Given the description of an element on the screen output the (x, y) to click on. 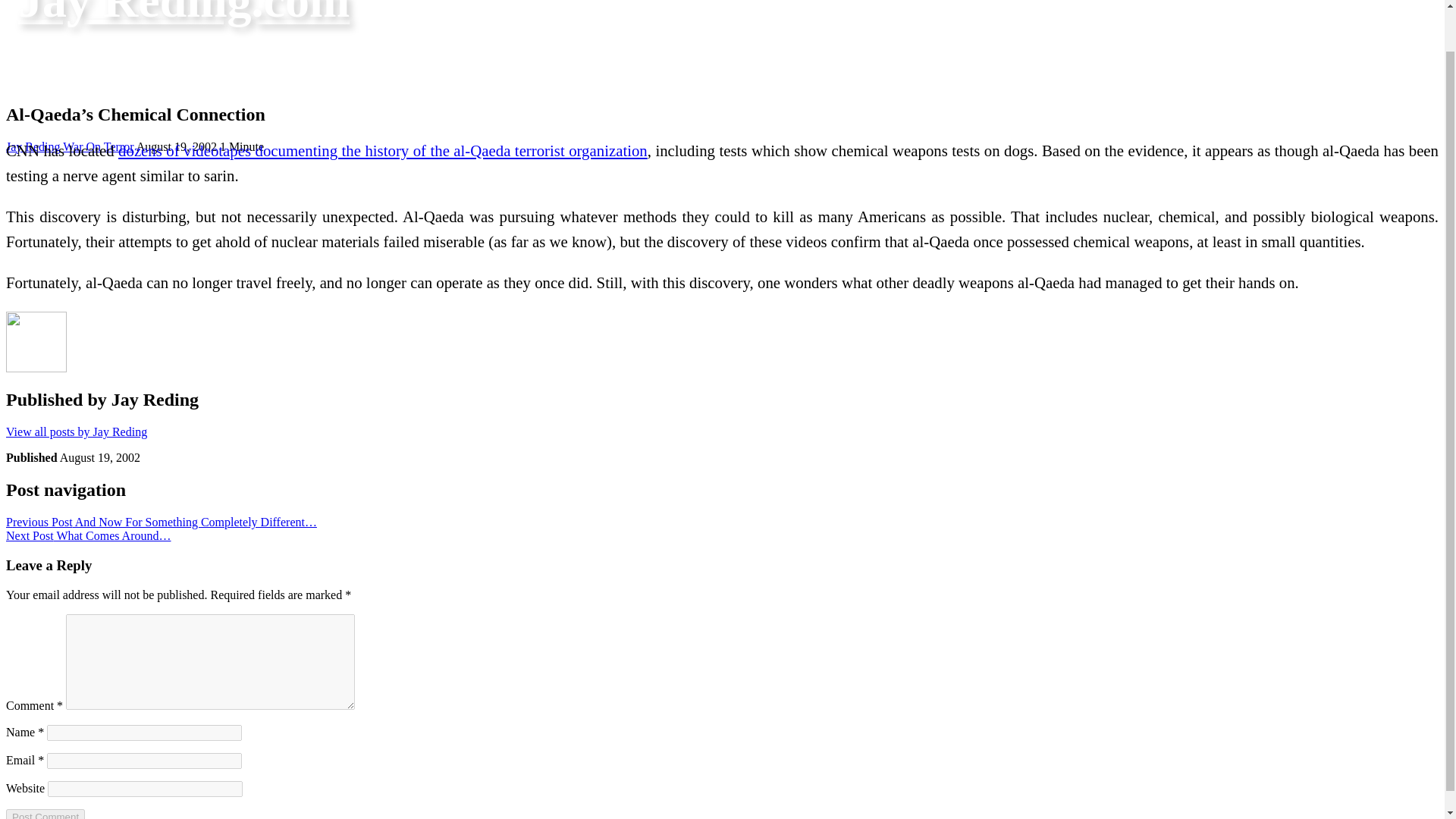
Jay Reding.com (183, 13)
Jay Reding (33, 146)
War On Terror (97, 146)
Posts by Jay Reding (33, 146)
View all posts by Jay Reding (76, 431)
